Given the description of an element on the screen output the (x, y) to click on. 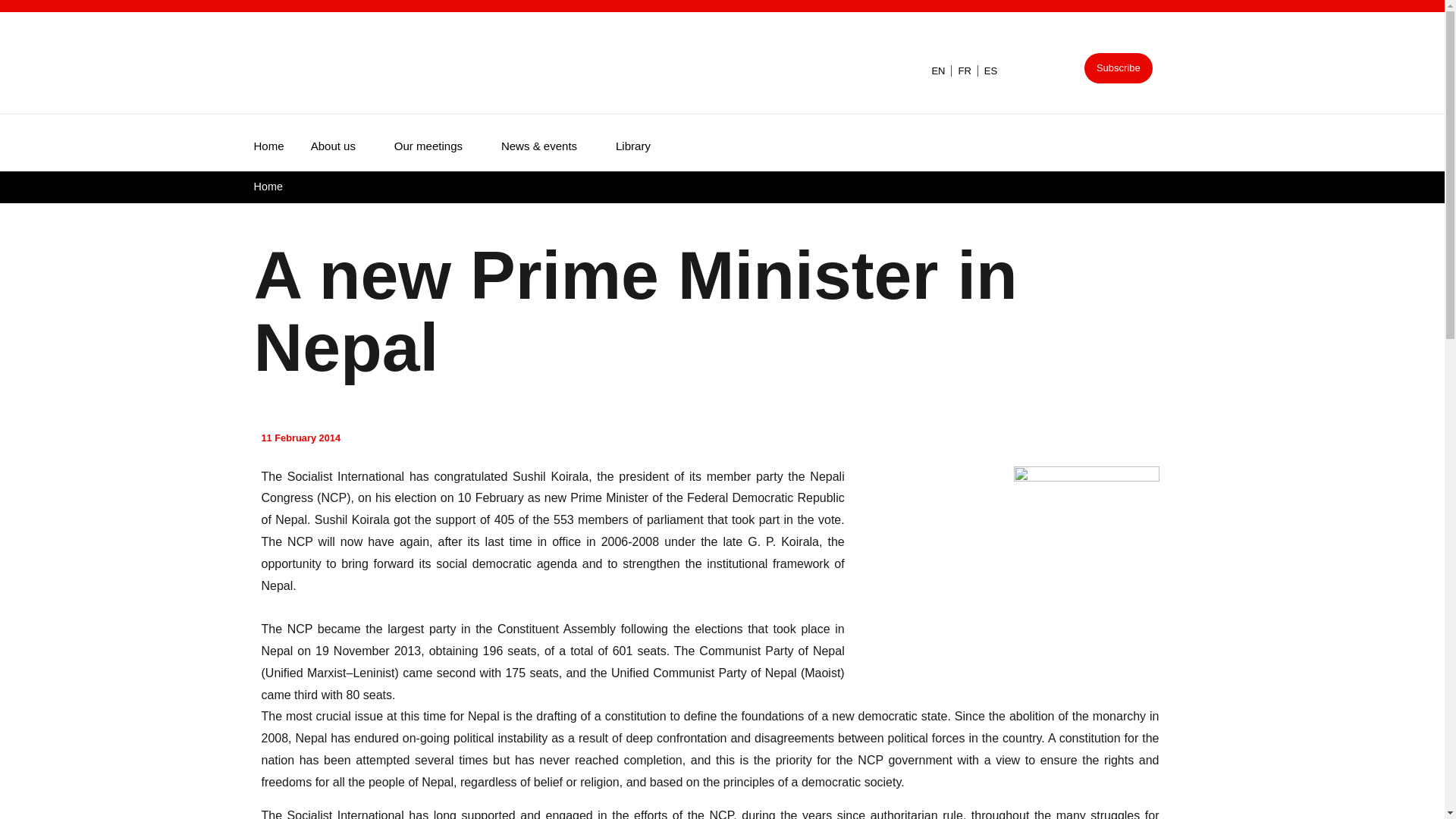
Home (281, 142)
About us (352, 142)
Socialist International on Facebook (1024, 69)
Library (646, 142)
Subscribe (1118, 67)
Home (267, 186)
Our meetings (447, 142)
Follow Socialist International on Twitter (1061, 69)
